Given the description of an element on the screen output the (x, y) to click on. 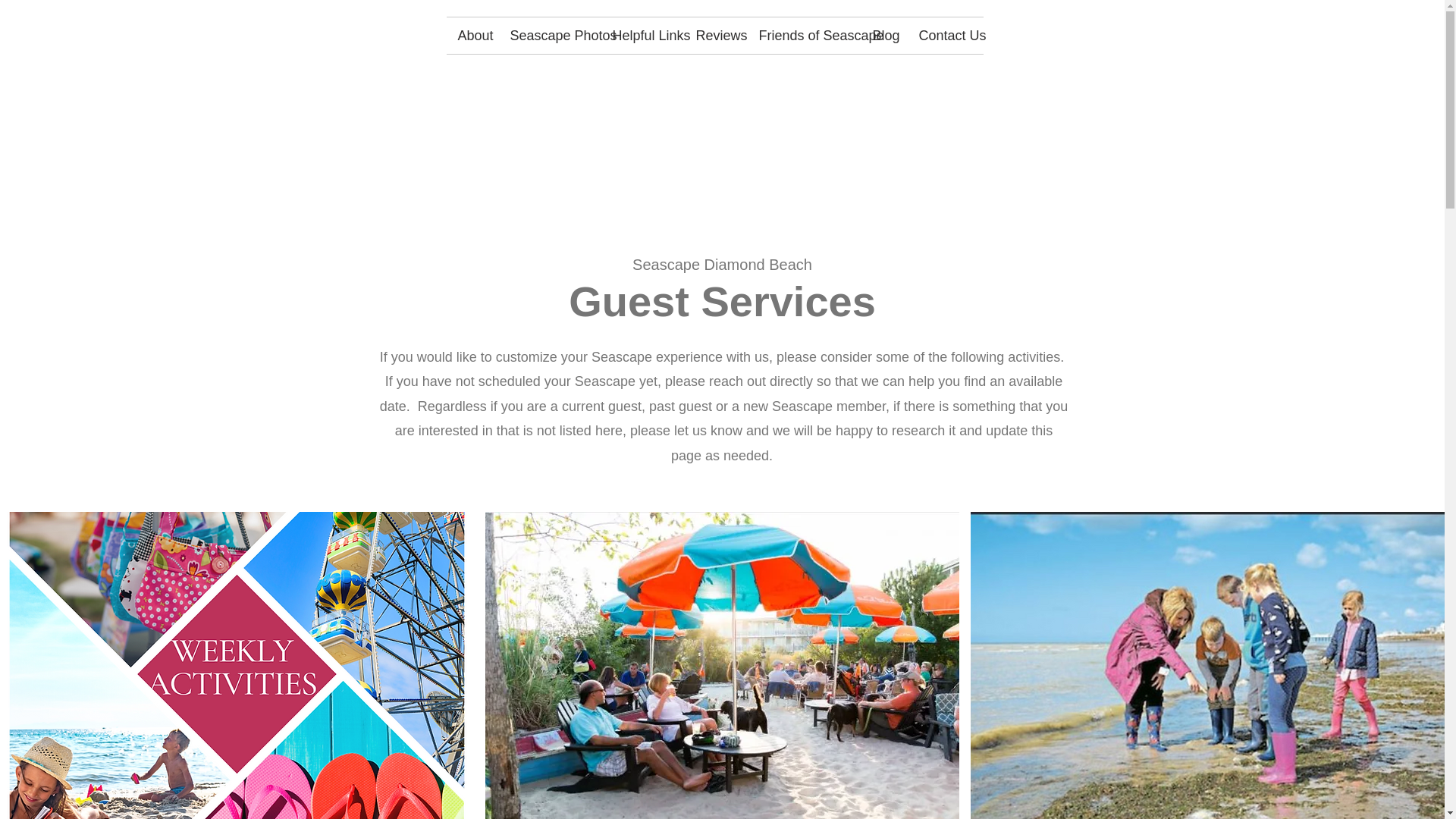
About (471, 35)
Friends of Seascape (804, 35)
Contact Us (944, 35)
Blog (884, 35)
Helpful Links (641, 35)
Seascape Photos (550, 35)
Reviews (715, 35)
